Given the description of an element on the screen output the (x, y) to click on. 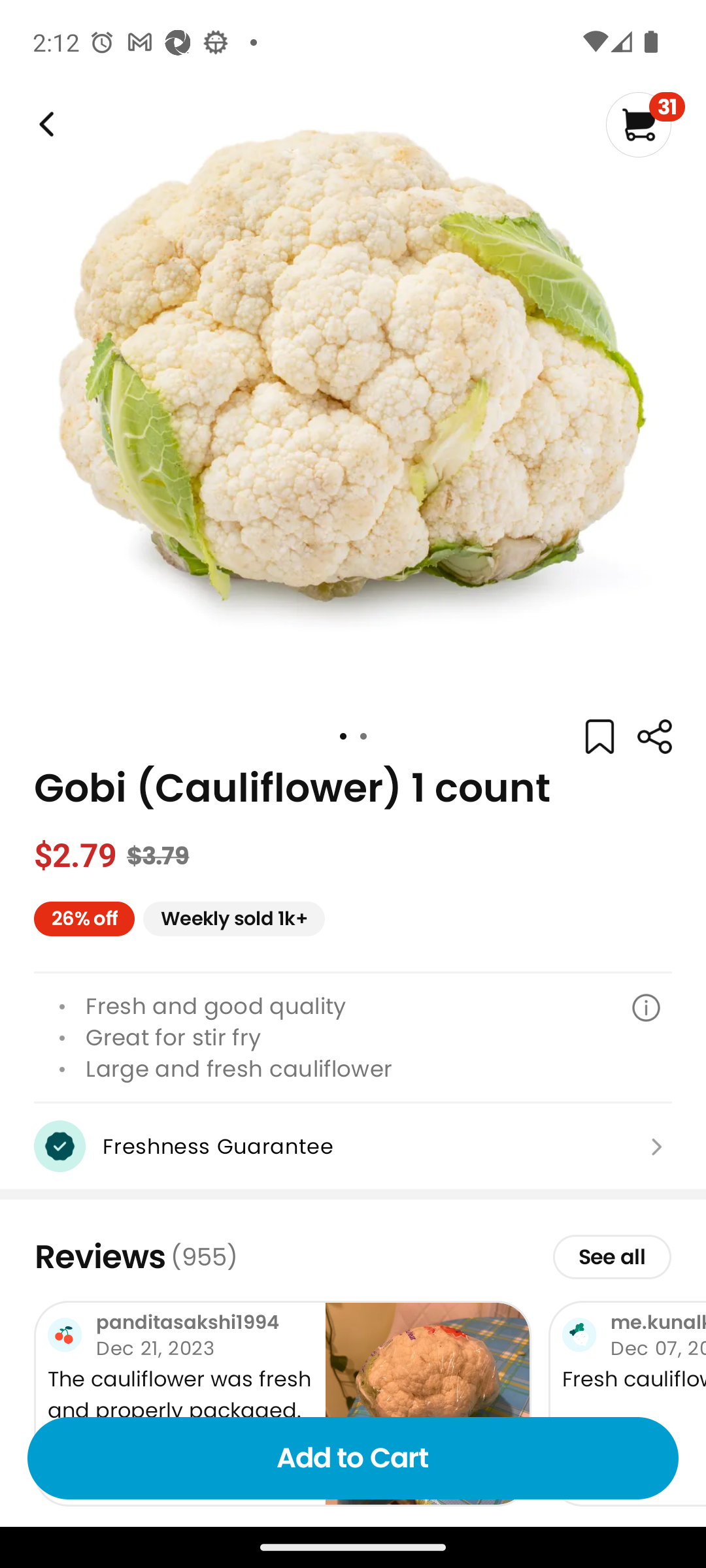
31 (644, 124)
Weee! (45, 124)
Weee! (653, 736)
Freshness Guarantee (352, 1145)
Reviews (955) See all (353, 1256)
Add to Cart (352, 1458)
